Given the description of an element on the screen output the (x, y) to click on. 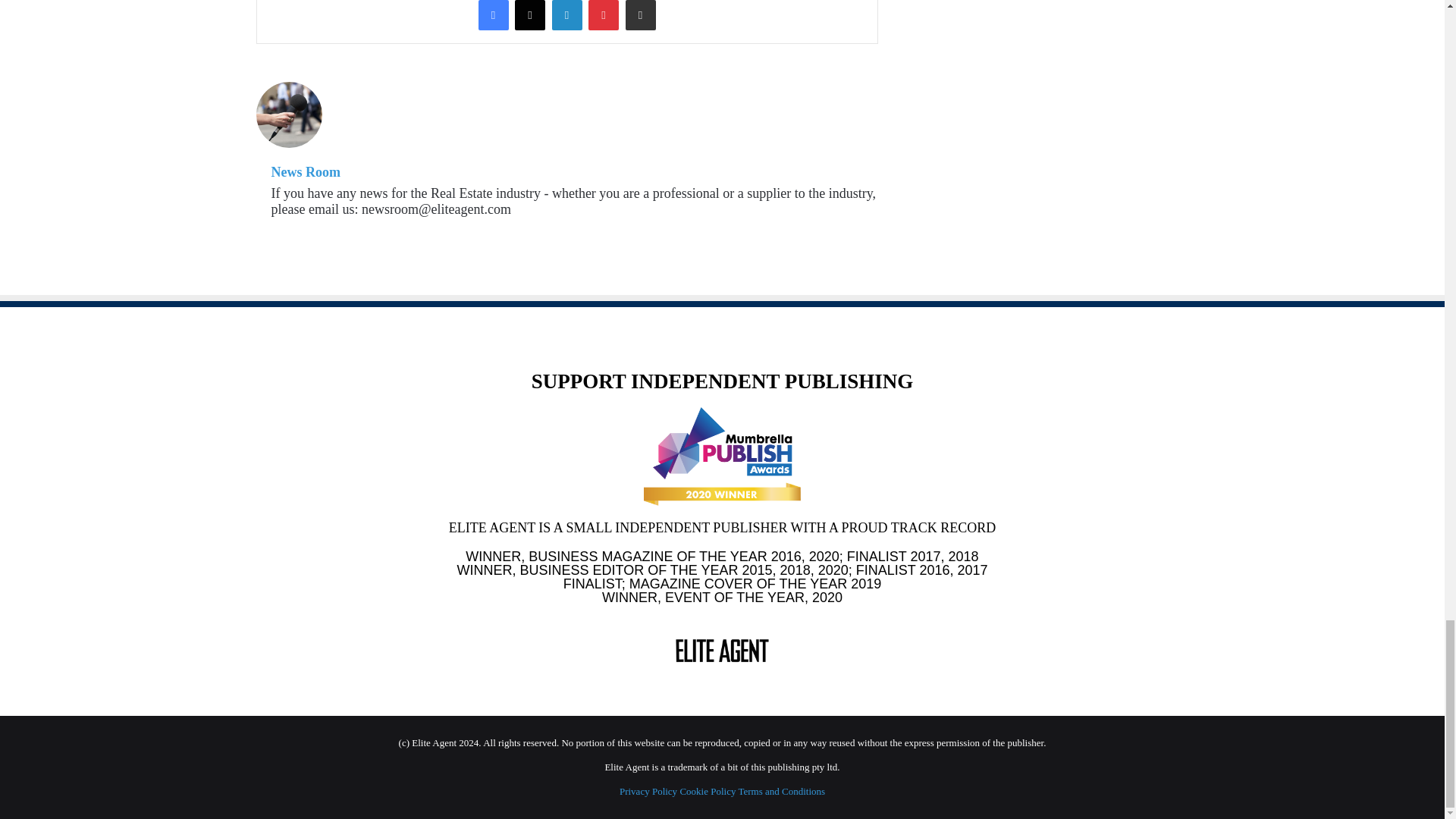
Facebook (492, 15)
